Given the description of an element on the screen output the (x, y) to click on. 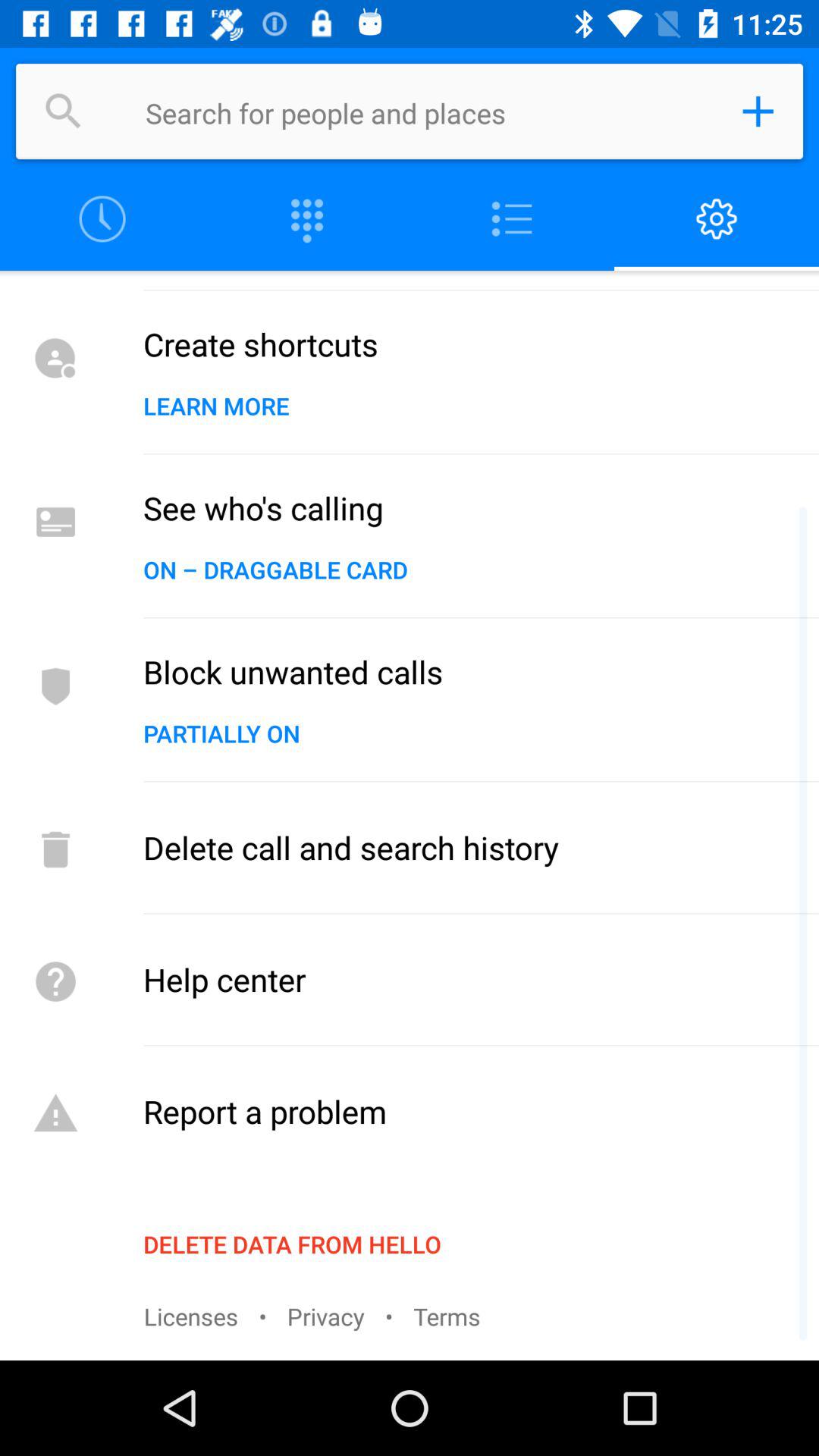
open dial pad (306, 219)
